Given the description of an element on the screen output the (x, y) to click on. 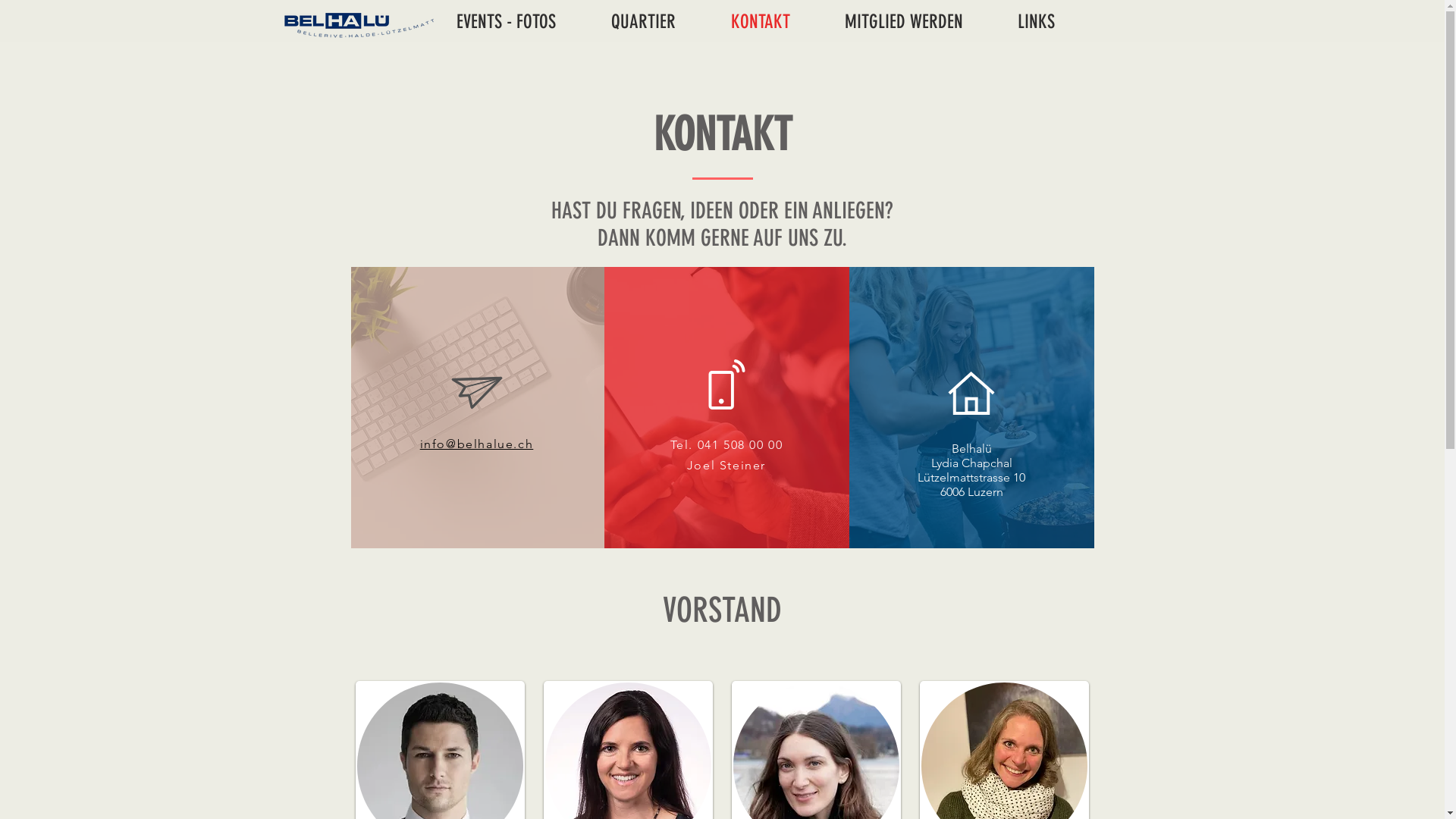
info@belhalue.ch Element type: text (476, 443)
KONTAKT Element type: text (775, 20)
MITGLIED WERDEN Element type: text (918, 20)
EVENTS - FOTOS Element type: text (521, 20)
LINKS Element type: text (1051, 20)
QUARTIER Element type: text (658, 20)
